Given the description of an element on the screen output the (x, y) to click on. 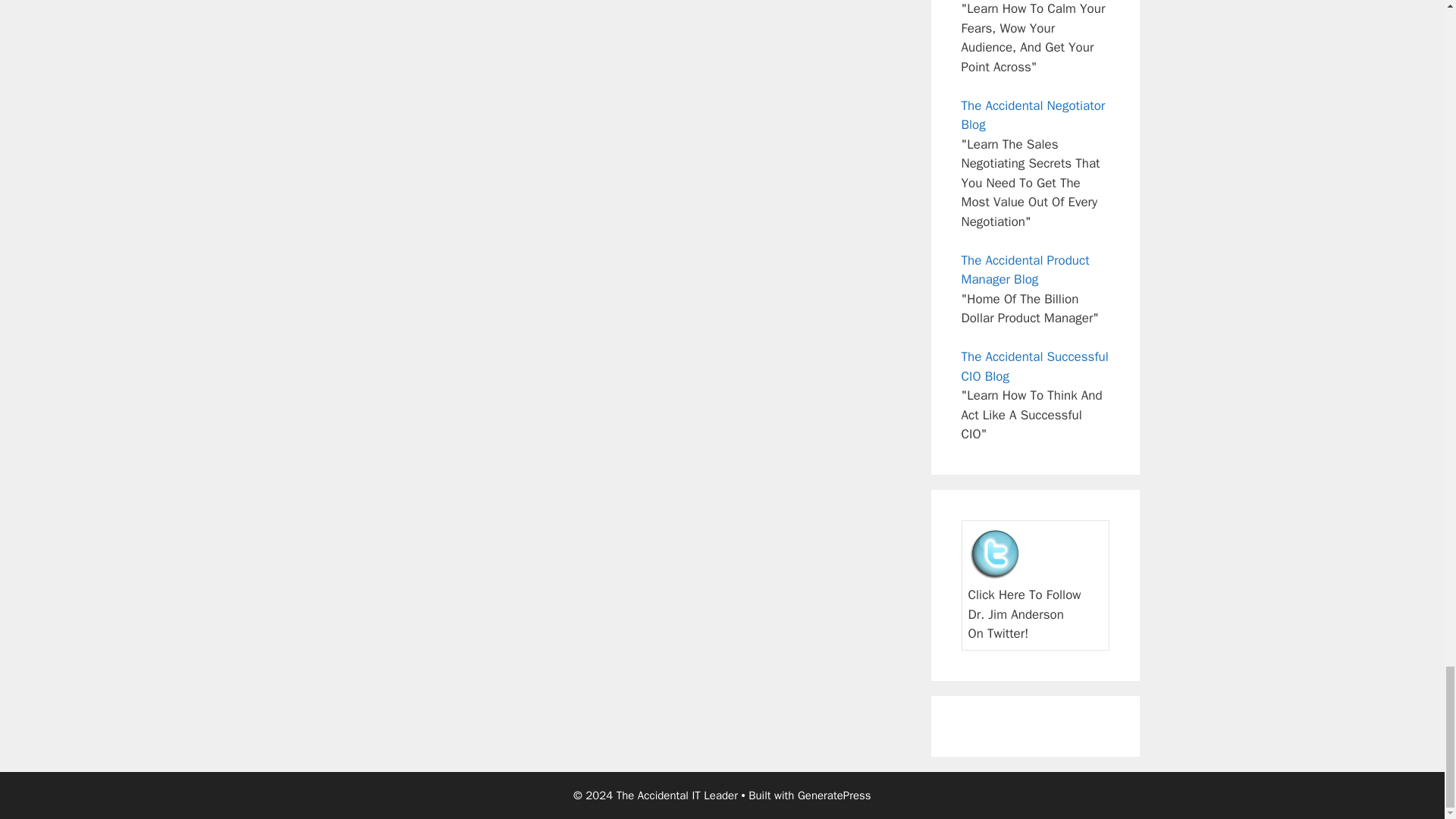
The Accidental Negotiator Blog (1032, 115)
The Accidental Successful CIO Blog (1034, 366)
The Accidental Product Manager Blog (1024, 270)
